Given the description of an element on the screen output the (x, y) to click on. 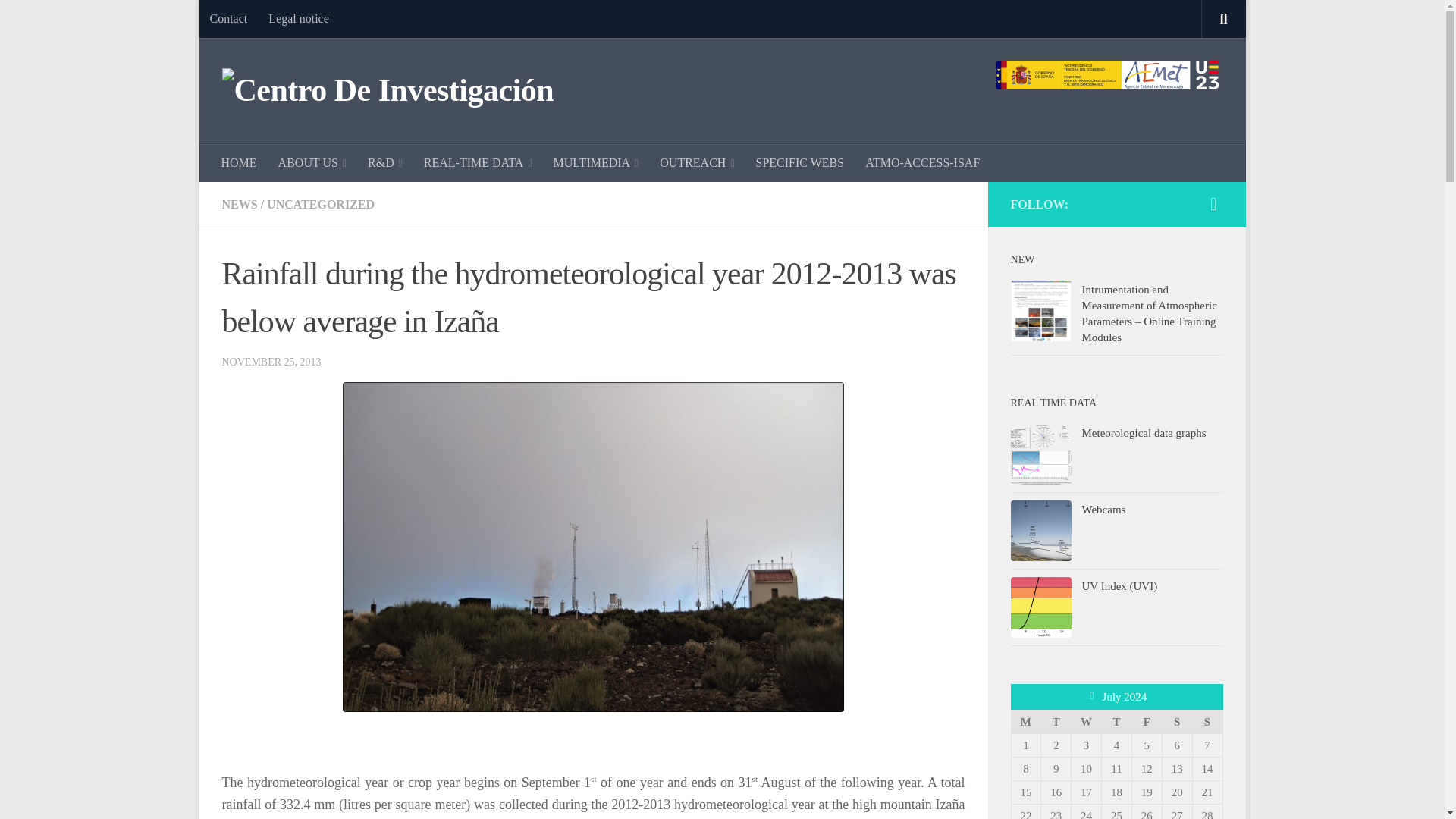
Monday (1025, 721)
Friday (1146, 721)
Skip to content (258, 20)
Wednesday (1086, 721)
Sunday (1207, 721)
Thursday (1117, 721)
Follow us on Twitter (1213, 203)
Tuesday (1056, 721)
Saturday (1176, 721)
